Given the description of an element on the screen output the (x, y) to click on. 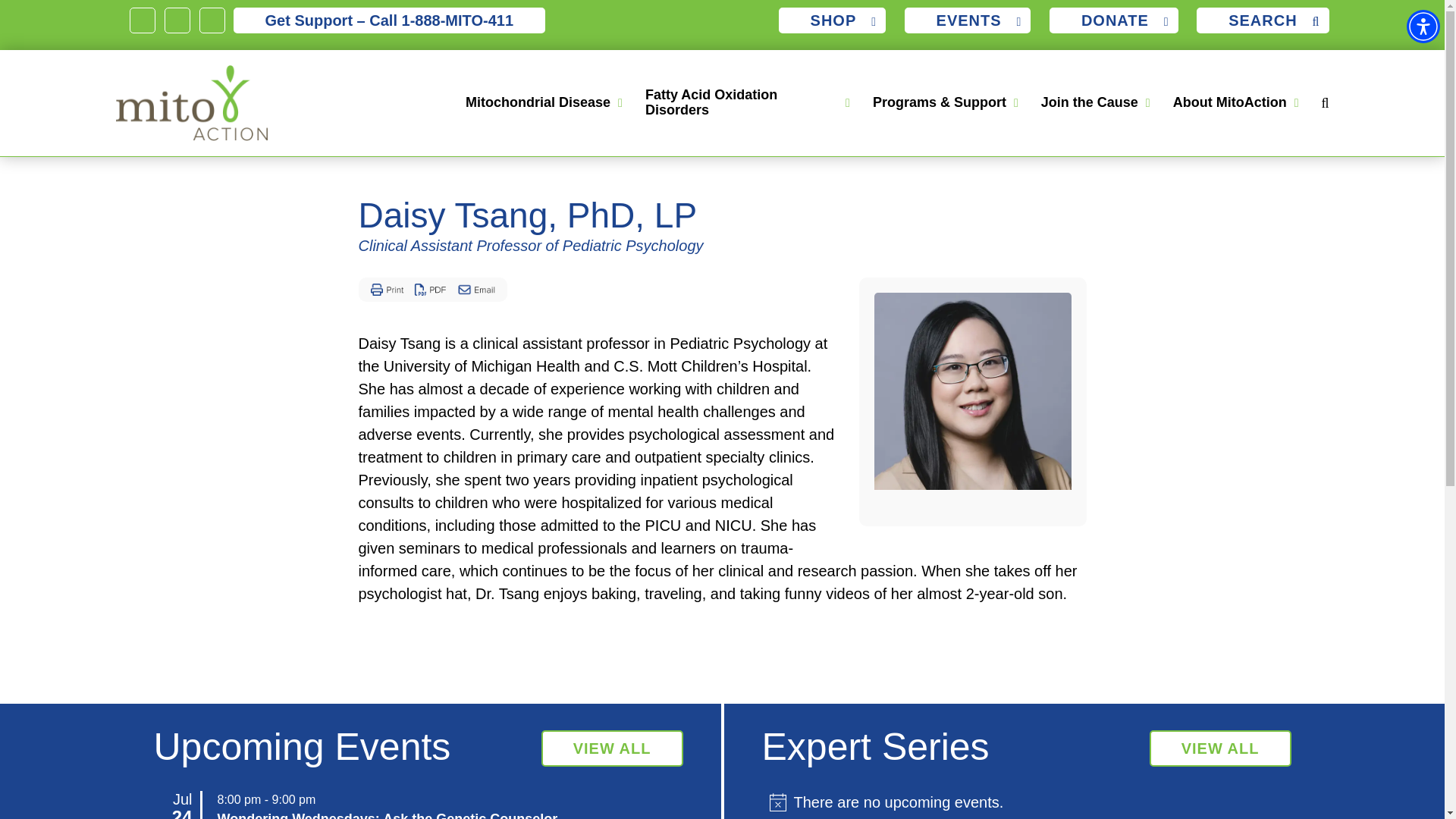
Daisy Tsang, PhD, LP (971, 390)
Upcoming Events (611, 748)
Wondering Wednesdays: Ask the Genetic Counselor (386, 815)
SHOP (832, 20)
Upcoming Monthly Expert Series (1220, 748)
Accessibility Menu (1422, 26)
DONATE (1113, 20)
SEARCH (1261, 20)
Mitochondrial Disease (539, 102)
EVENTS (967, 20)
